Given the description of an element on the screen output the (x, y) to click on. 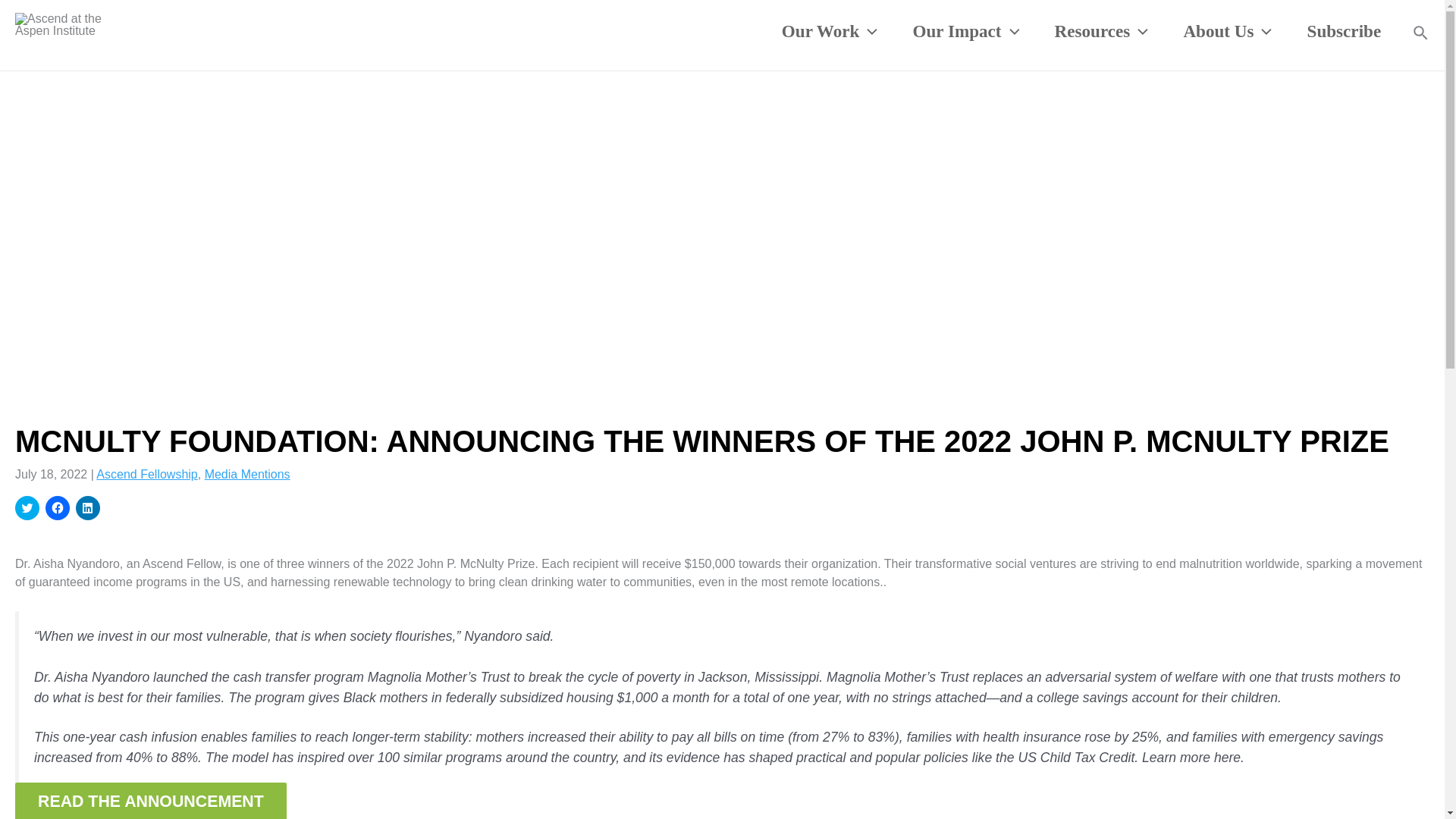
Our Impact (965, 31)
Click to share on LinkedIn (87, 508)
Click to share on Facebook (57, 508)
Our Work (829, 31)
Resources (1101, 31)
About Us (1227, 31)
Subscribe (1342, 31)
Click to share on Twitter (26, 508)
